Given the description of an element on the screen output the (x, y) to click on. 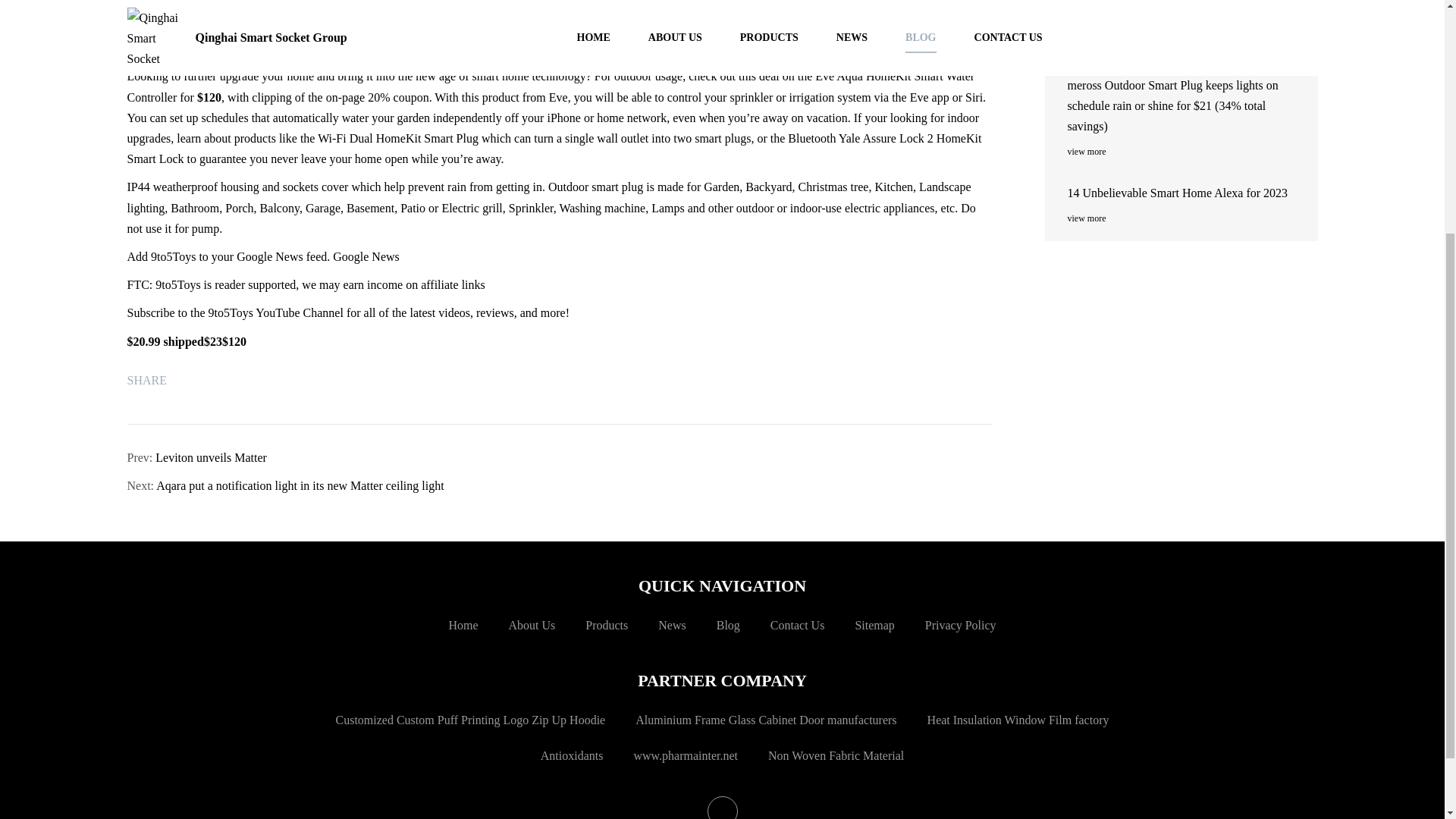
14 Unbelievable Smart Home Alexa for 2023 (1185, 192)
Leviton unveils Matter (210, 457)
view more (1185, 151)
view more (1185, 218)
Products (606, 625)
Home (462, 625)
SONOFF MINIR4M (1185, 18)
About Us (531, 625)
view more (1185, 44)
